Given the description of an element on the screen output the (x, y) to click on. 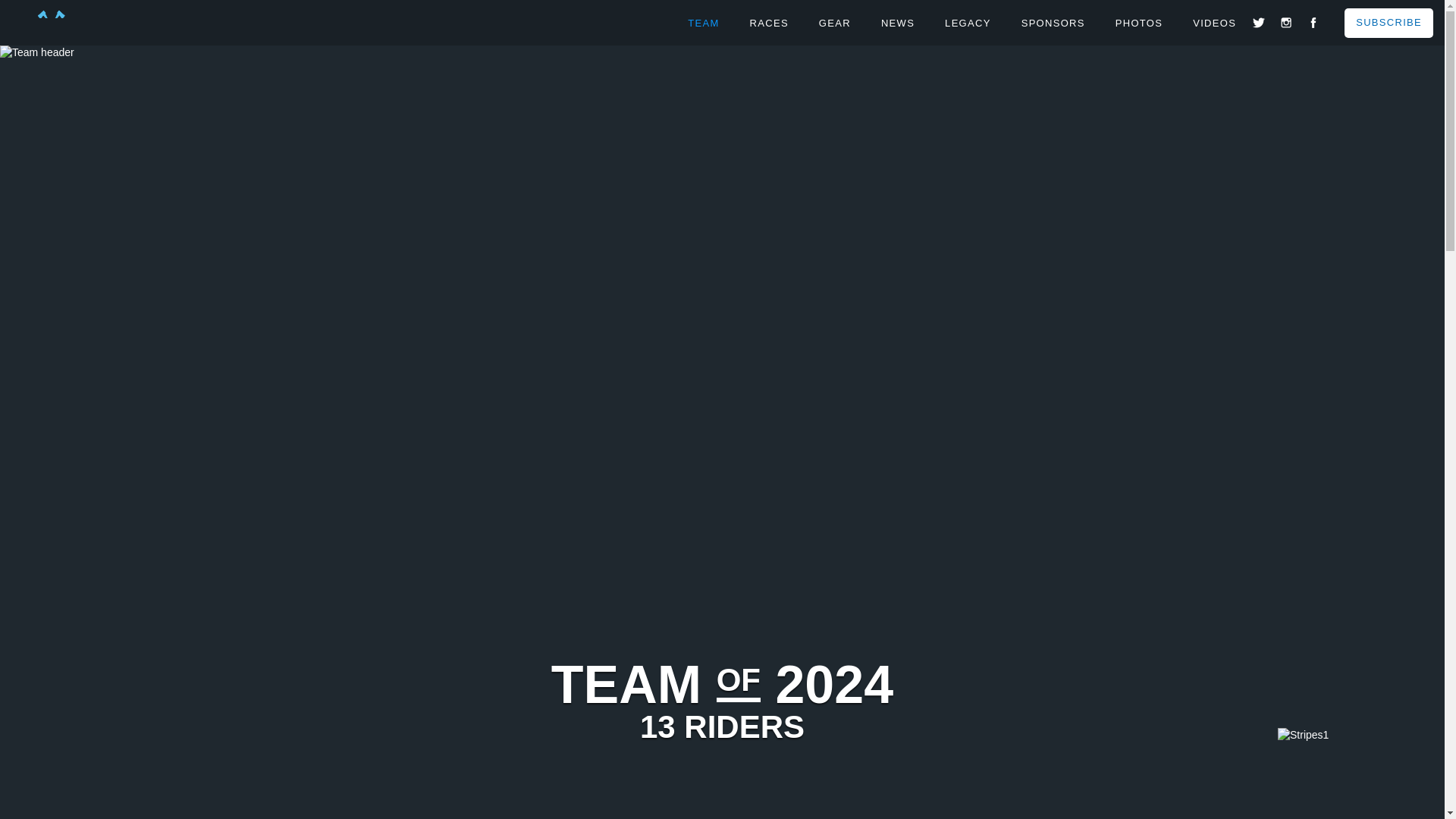
VIDEOS (1214, 23)
PHOTOS (1138, 23)
SPONSORS (1053, 23)
LEGACY (967, 23)
SUBSCRIBE (1387, 22)
